Given the description of an element on the screen output the (x, y) to click on. 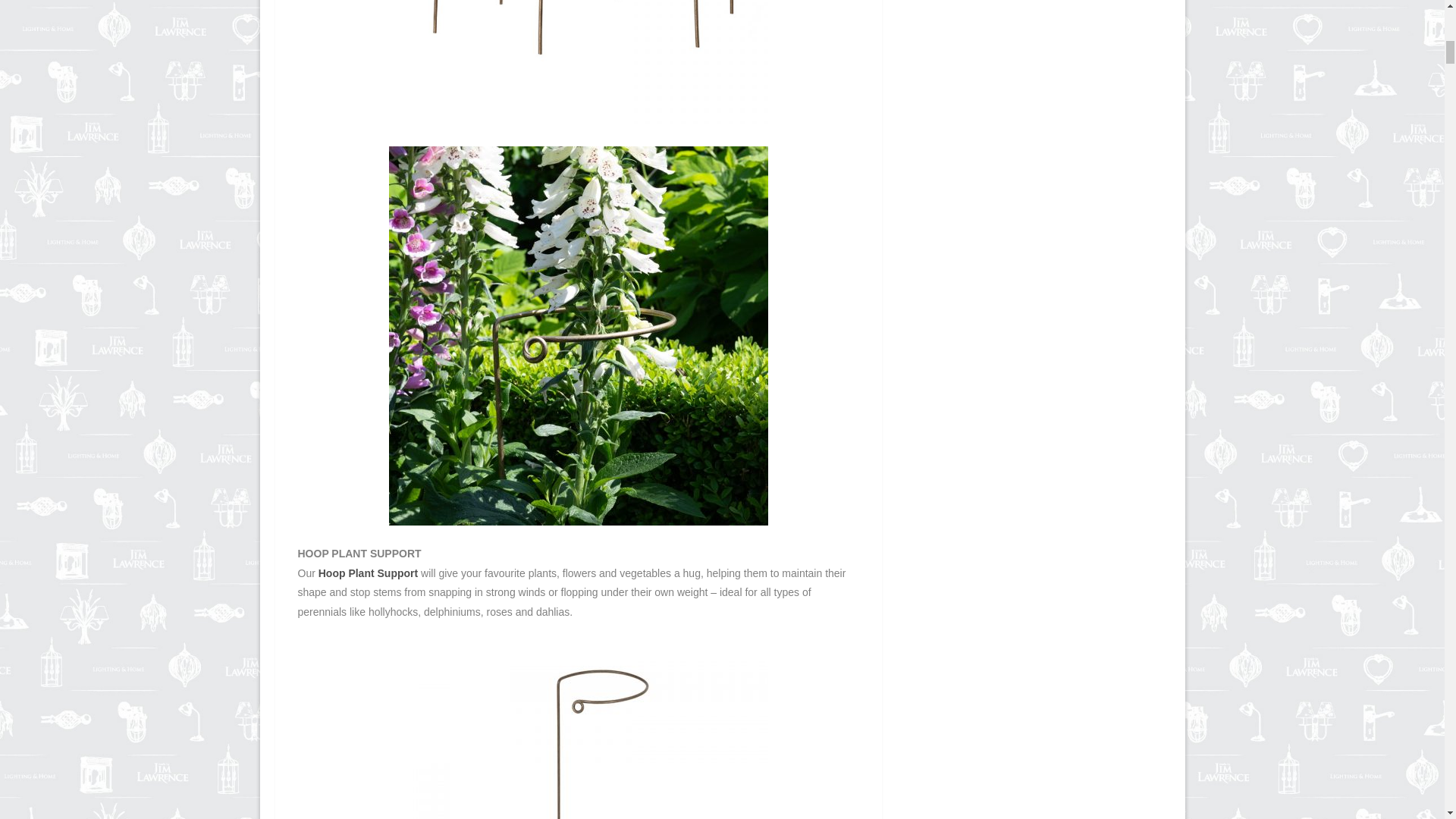
Hoop Plant Support (367, 573)
